Given the description of an element on the screen output the (x, y) to click on. 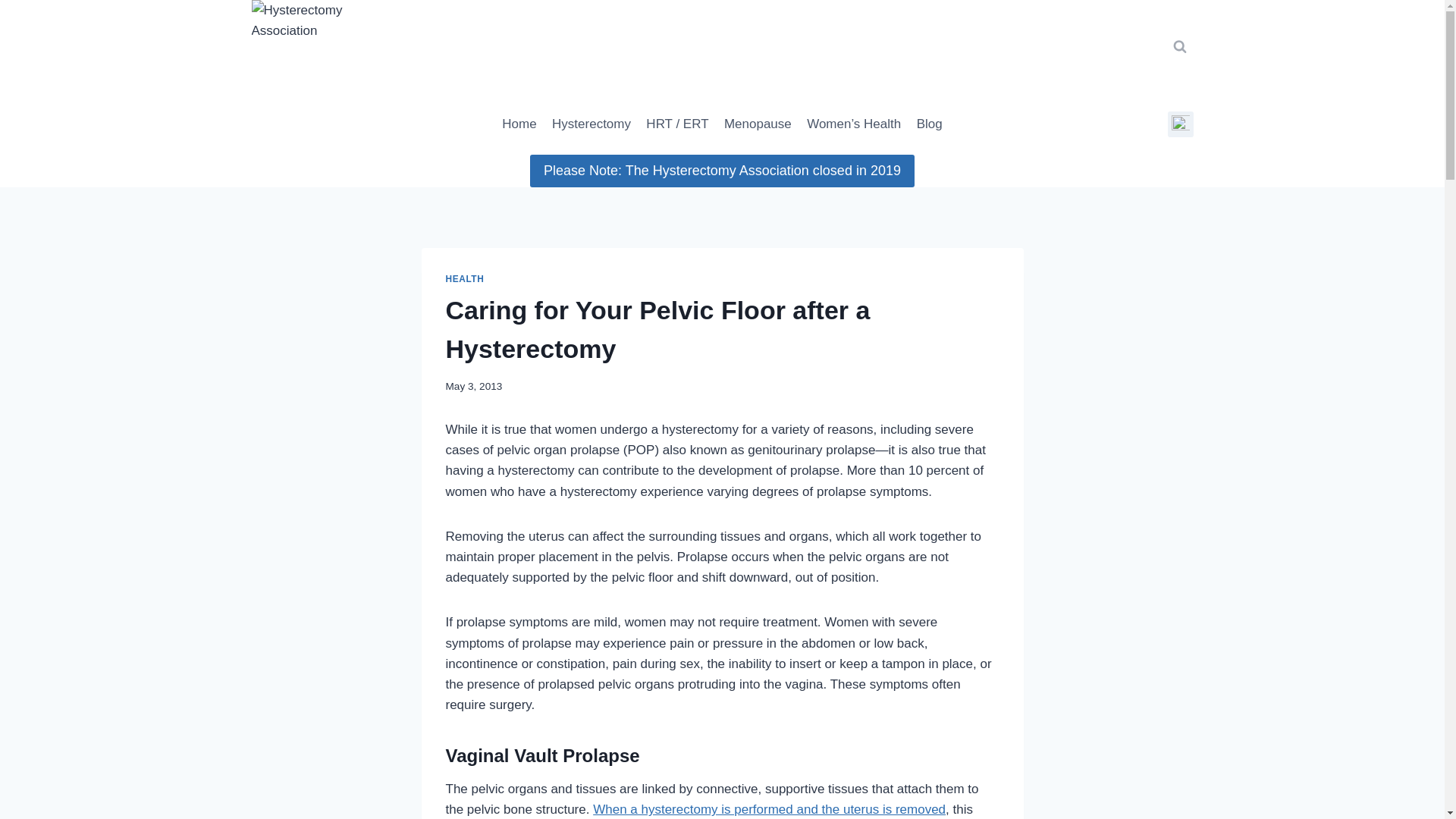
Please Note: The Hysterectomy Association closed in 2019 (721, 170)
Home (519, 124)
When a hysterectomy is performed and the uterus is removed (768, 809)
Hysterectomy (591, 124)
Blog (928, 124)
Menopause (757, 124)
HEALTH (464, 278)
